Given the description of an element on the screen output the (x, y) to click on. 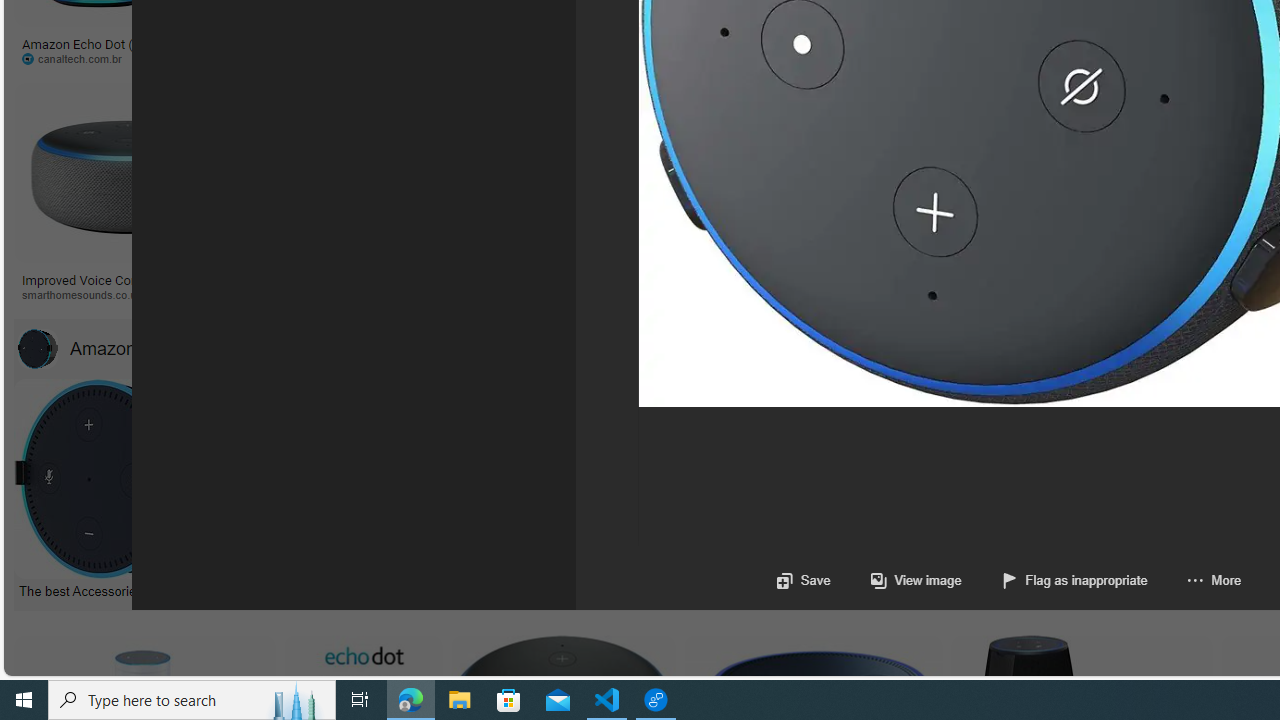
Android Central (726, 295)
View image (895, 580)
Save (802, 580)
pricehistoryapp.com (506, 58)
canaltech.com.br (97, 58)
